Given the description of an element on the screen output the (x, y) to click on. 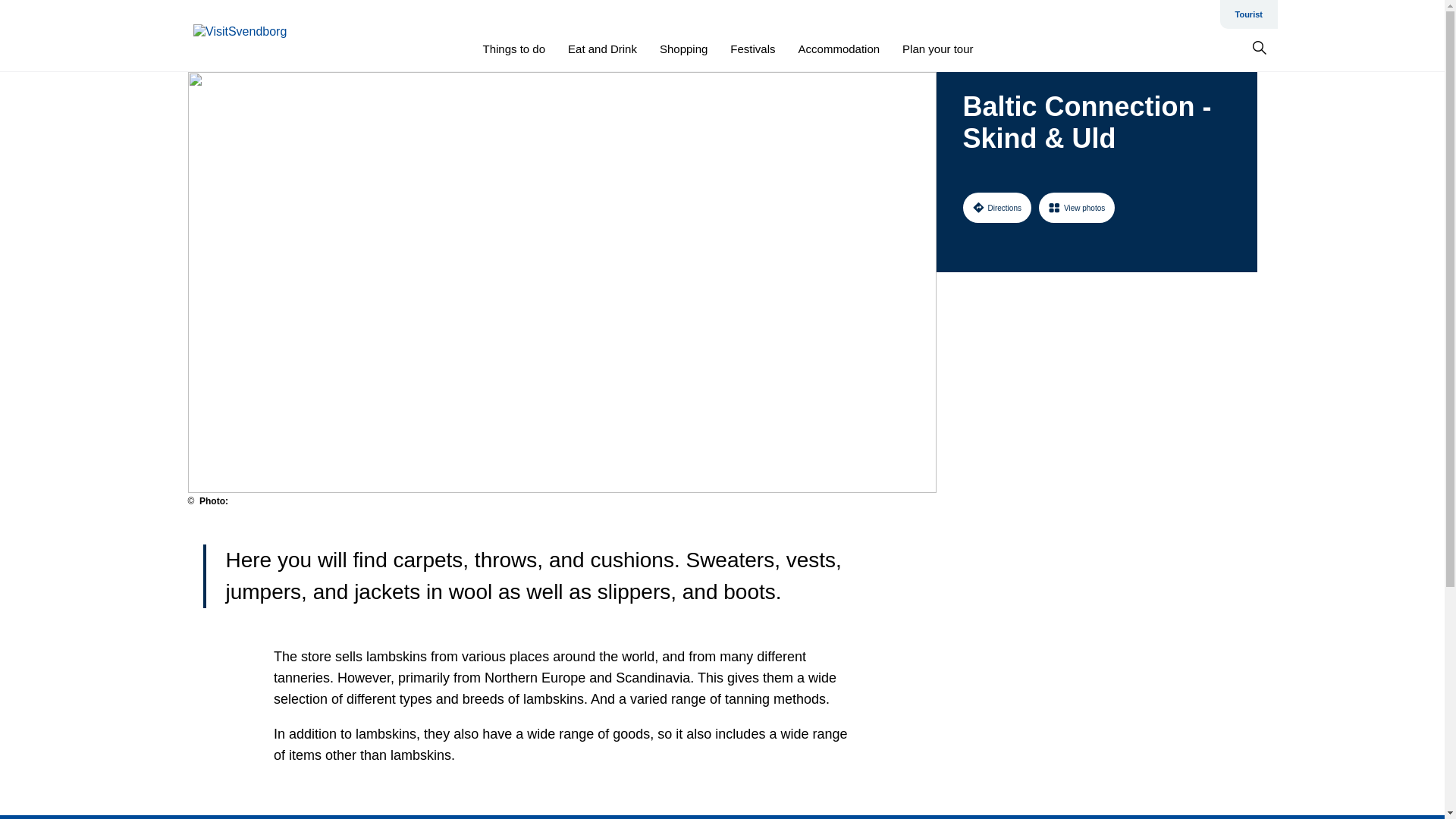
Accommodation (838, 48)
Plan your tour (937, 48)
Shopping (683, 48)
Tourist (1248, 14)
Things to do (512, 48)
Go to homepage (253, 35)
View photos (1077, 207)
Eat and Drink (602, 48)
Directions (996, 207)
Festivals (752, 48)
